Given the description of an element on the screen output the (x, y) to click on. 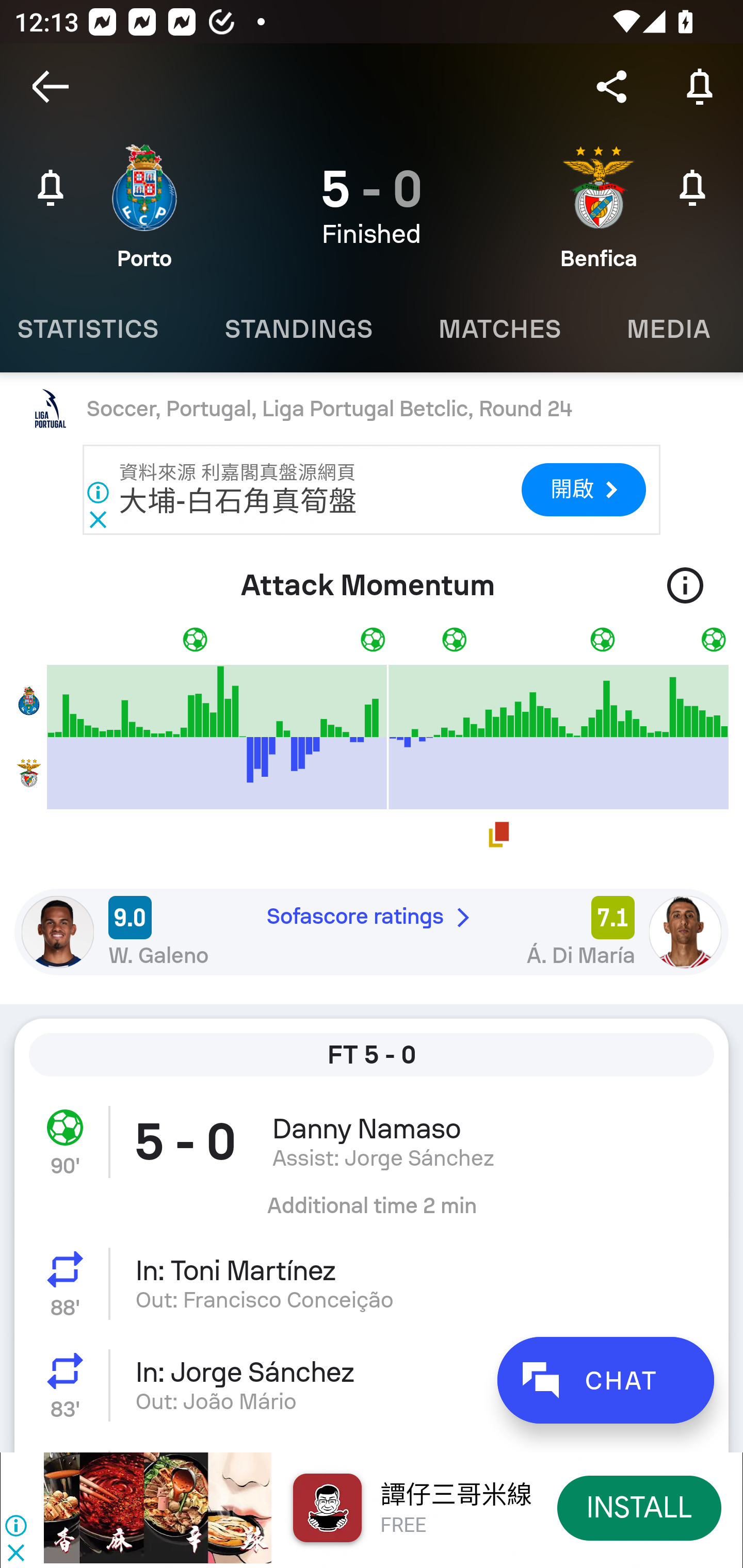
Navigate up (50, 86)
Statistics STATISTICS (95, 329)
Standings STANDINGS (297, 329)
Matches MATCHES (498, 329)
Media MEDIA (668, 329)
Soccer, Portugal, Liga Portugal Betclic, Round 24 (371, 409)
資料來源 利嘉閣真盤源網頁 (237, 472)
開啟 (583, 489)
大埔-白石角真筍盤 (238, 501)
9.0 Sofascore ratings 7.1 W. Galeno Á. Di María (371, 932)
FT 5 - 0 (371, 1055)
Additional time 2 min (371, 1212)
Substitution In: Jorge Sánchez 83' Out: João Mário (371, 1385)
CHAT (605, 1380)
INSTALL (639, 1507)
譚仔三哥米線 (455, 1494)
FREE (403, 1525)
